Given the description of an element on the screen output the (x, y) to click on. 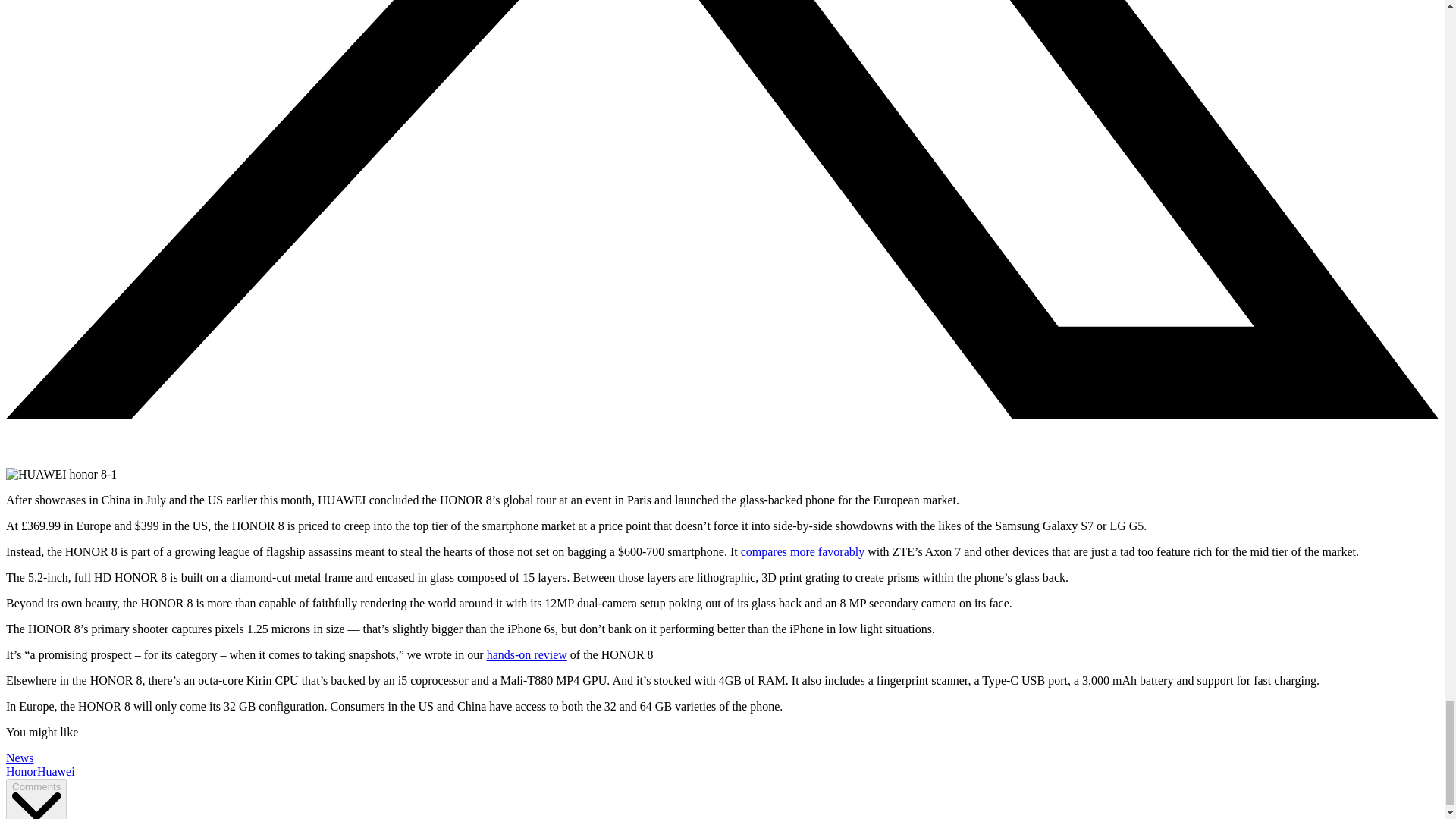
HUAWEI honor 8-1 (60, 474)
Huawei (56, 771)
compares more favorably (802, 551)
hands-on review (526, 654)
Honor (21, 771)
News (19, 757)
